Given the description of an element on the screen output the (x, y) to click on. 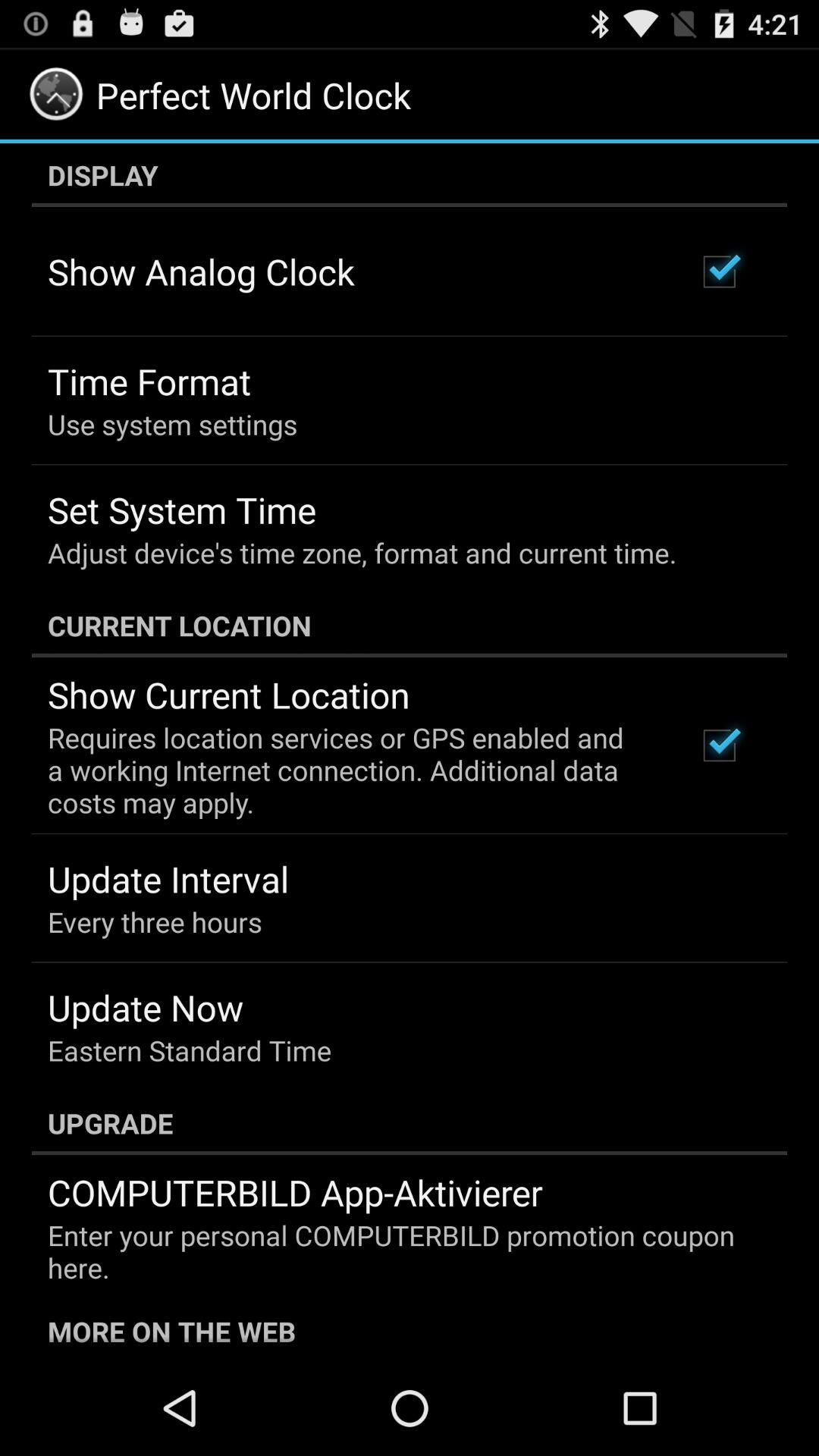
launch more on the icon (409, 1329)
